Given the description of an element on the screen output the (x, y) to click on. 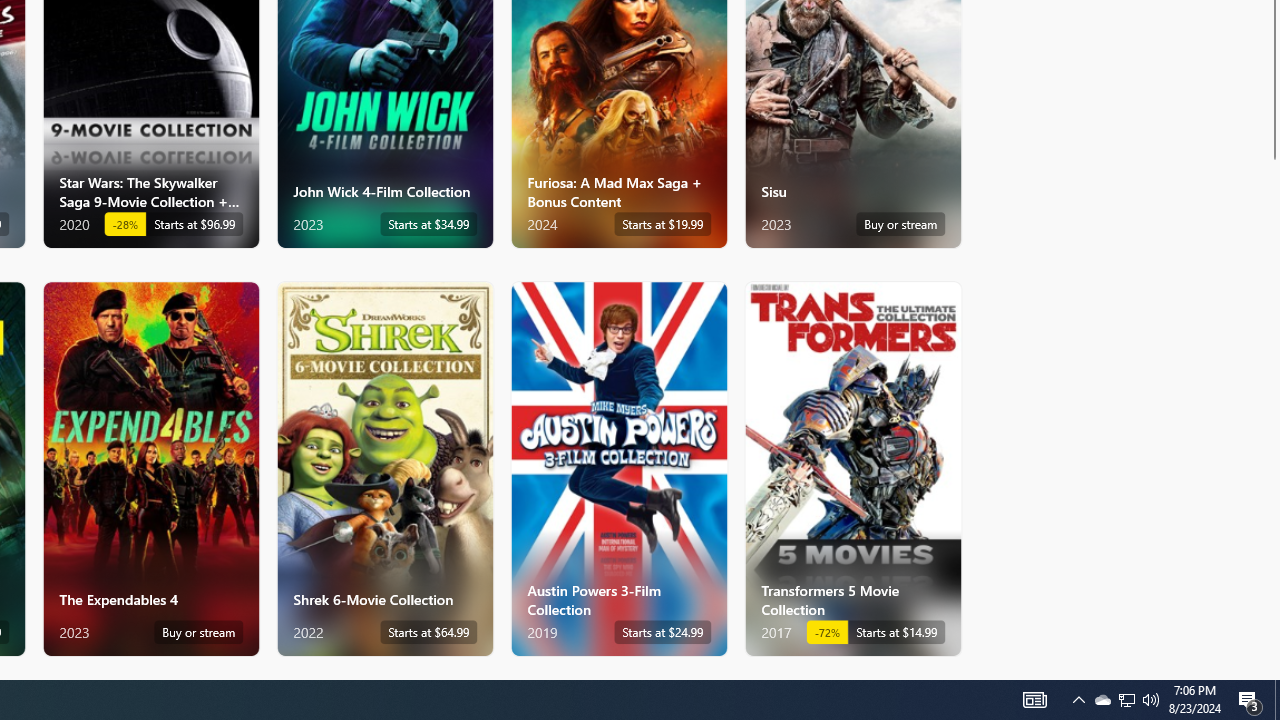
Austin Powers 3-Film Collection. Starts at $24.99   (618, 468)
